Given the description of an element on the screen output the (x, y) to click on. 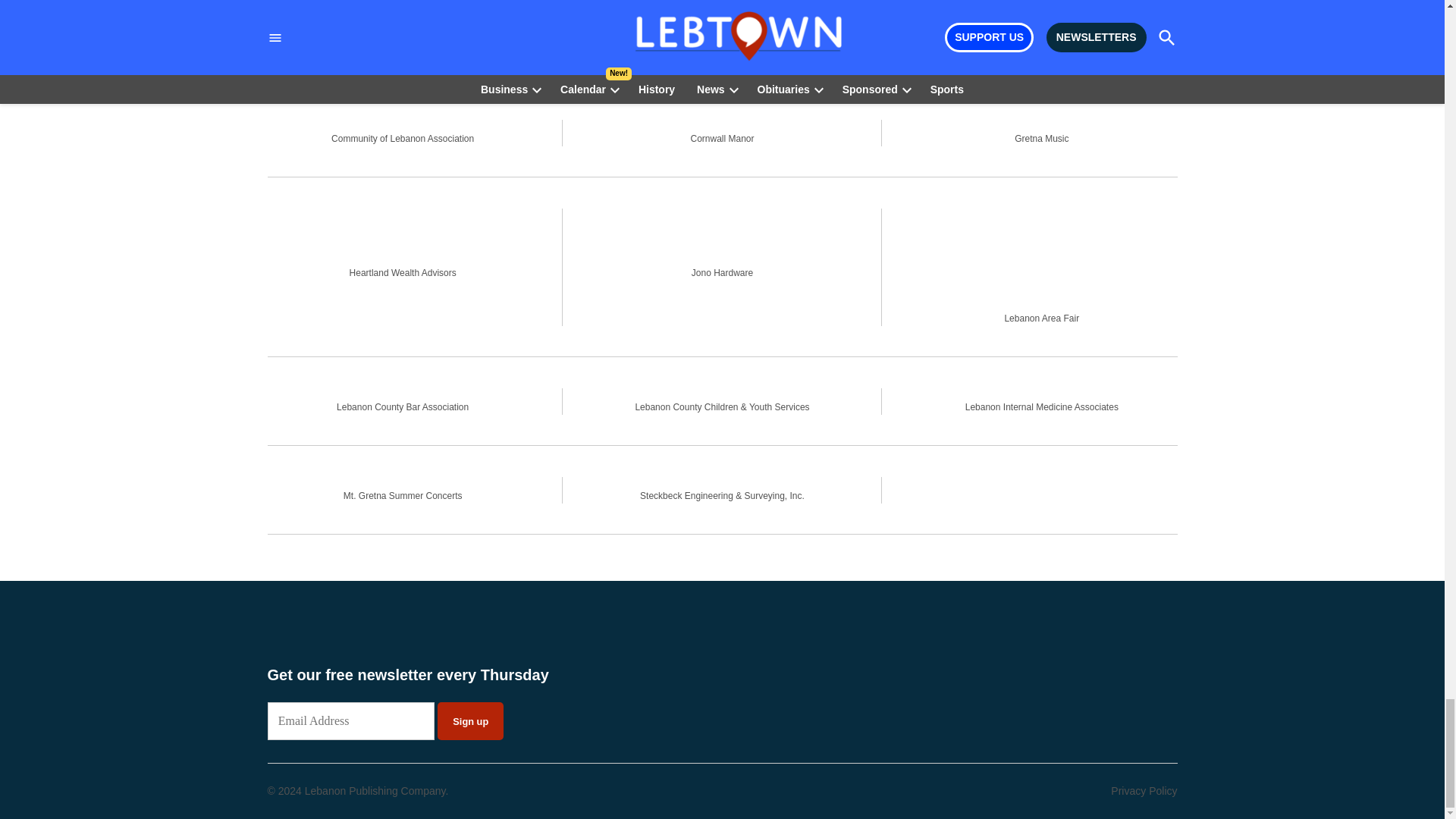
Sign up (470, 720)
